Given the description of an element on the screen output the (x, y) to click on. 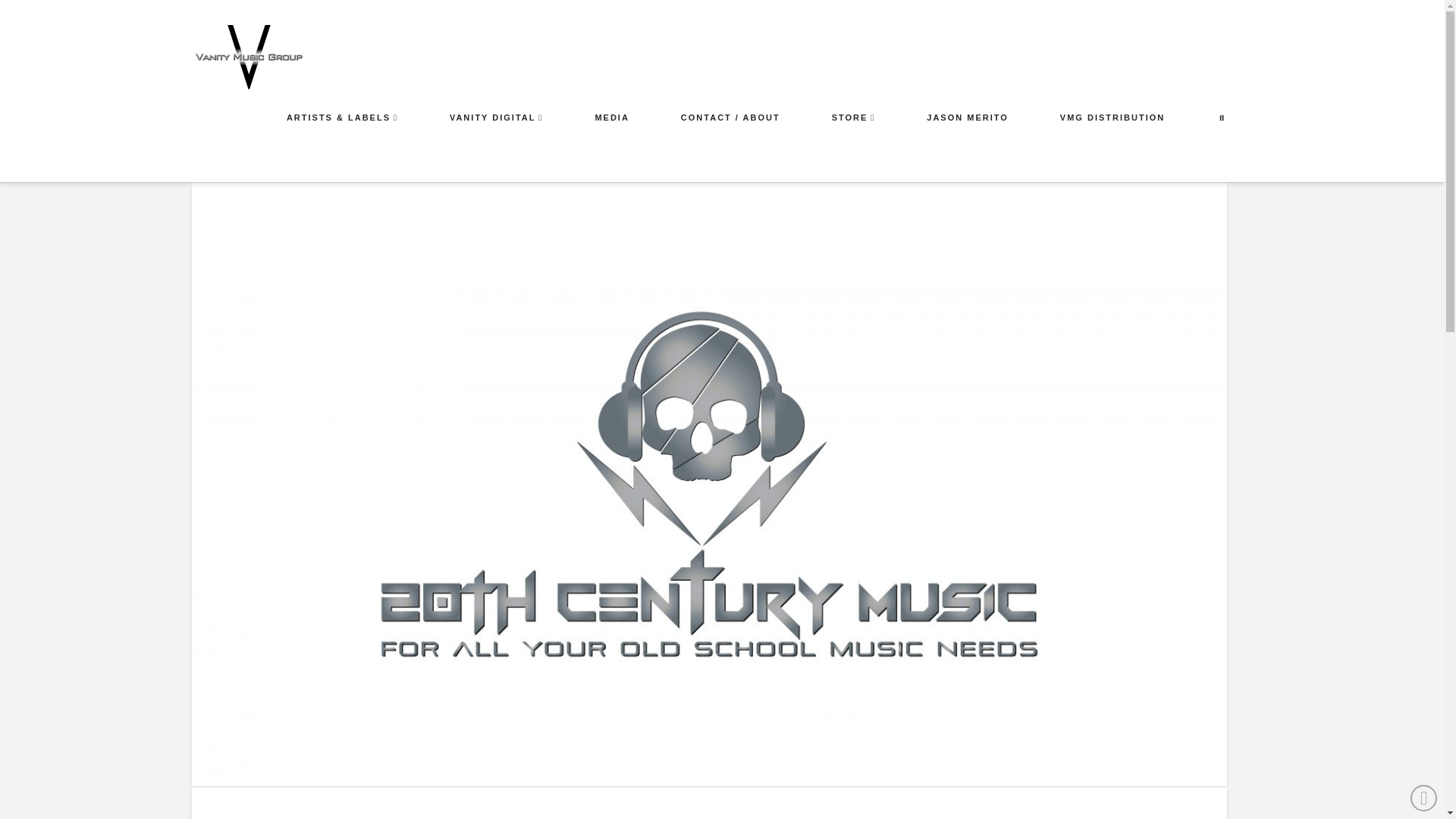
JASON MERITO (966, 147)
Back to Top (1423, 797)
VMG DISTRIBUTION (1111, 147)
MEDIA (610, 147)
VANITY DIGITAL (495, 147)
STORE (853, 147)
